Given the description of an element on the screen output the (x, y) to click on. 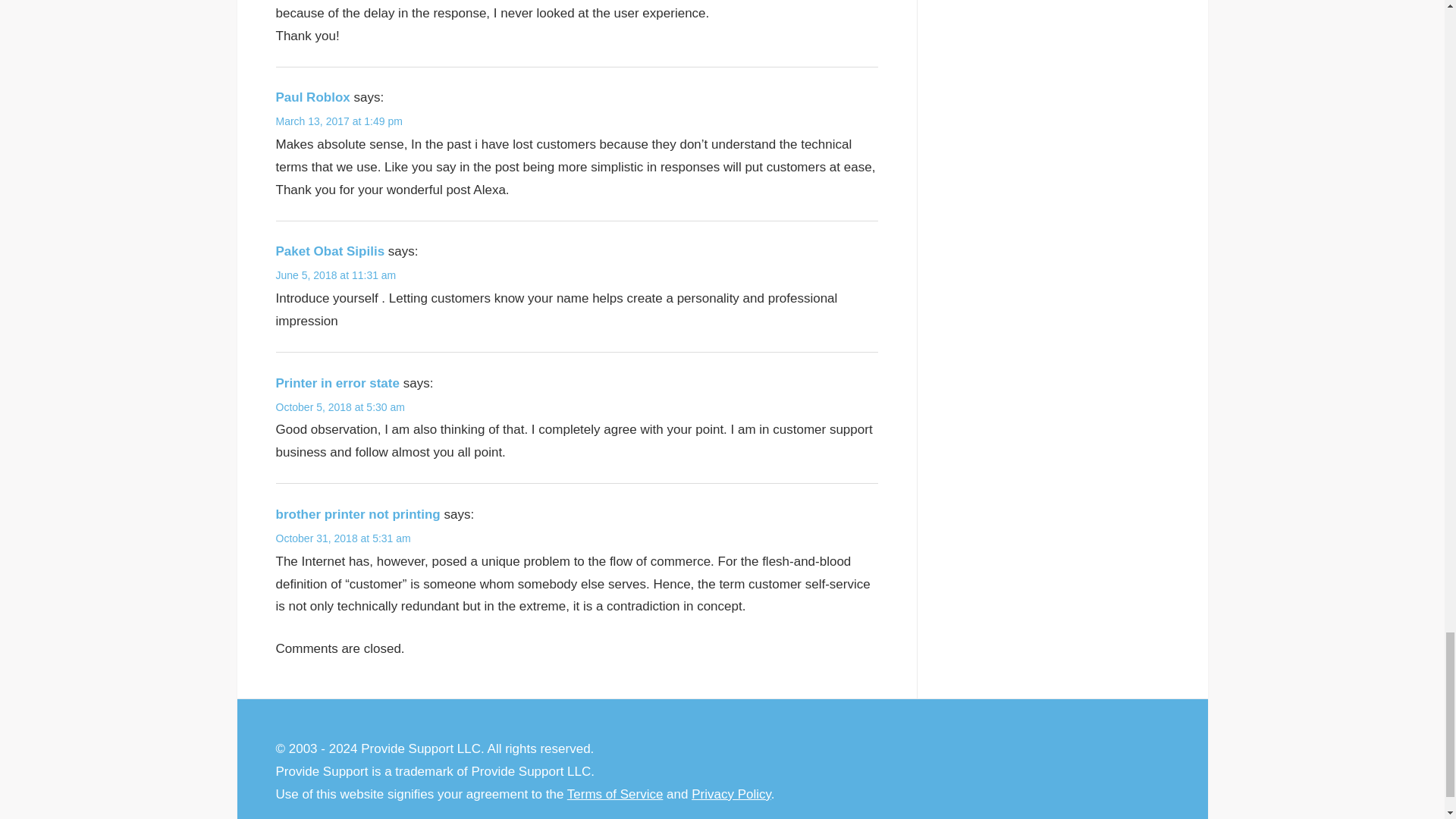
brother printer not printing (358, 513)
Paul Roblox (313, 97)
Printer in error state (337, 382)
Paket Obat Sipilis (330, 251)
October 5, 2018 at 5:30 am (340, 407)
March 13, 2017 at 1:49 pm (339, 121)
June 5, 2018 at 11:31 am (336, 275)
